Given the description of an element on the screen output the (x, y) to click on. 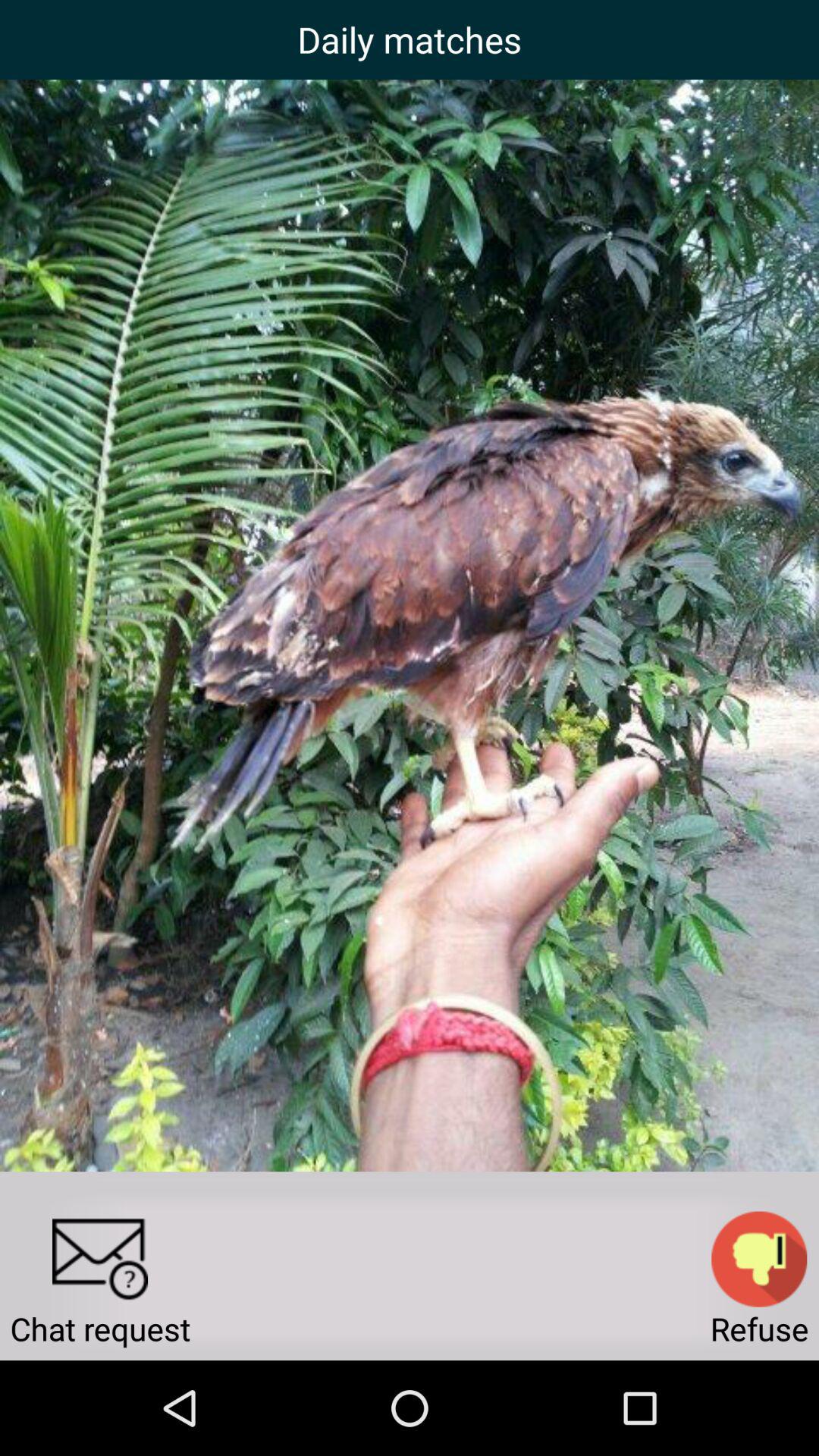
choose the item above chat request (99, 1258)
